Given the description of an element on the screen output the (x, y) to click on. 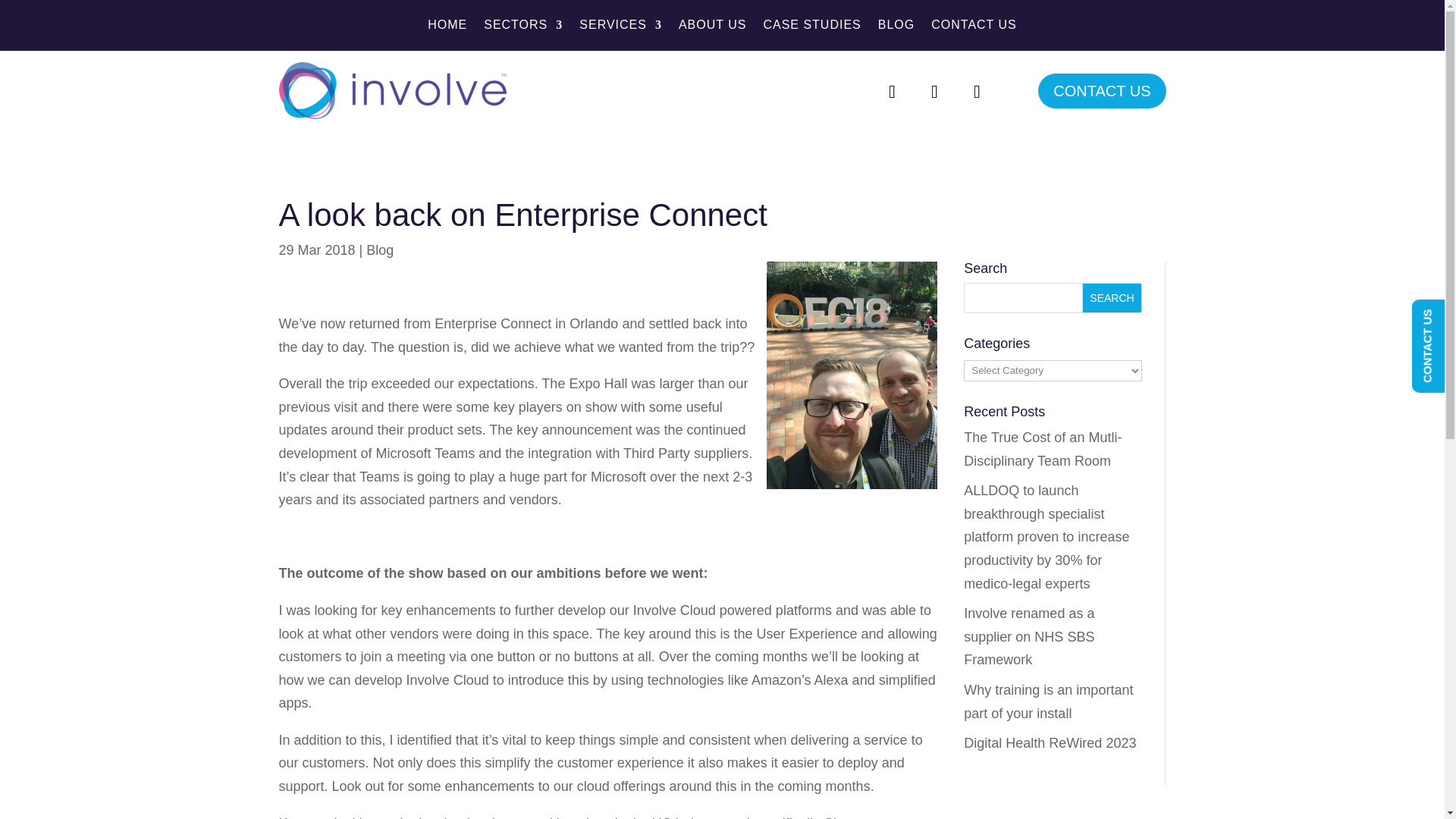
Follow on X (933, 91)
HOME (447, 28)
SECTORS (522, 28)
Search (1111, 297)
Follow on LinkedIn (976, 91)
Follow on Facebook (891, 91)
Involve (392, 90)
